Given the description of an element on the screen output the (x, y) to click on. 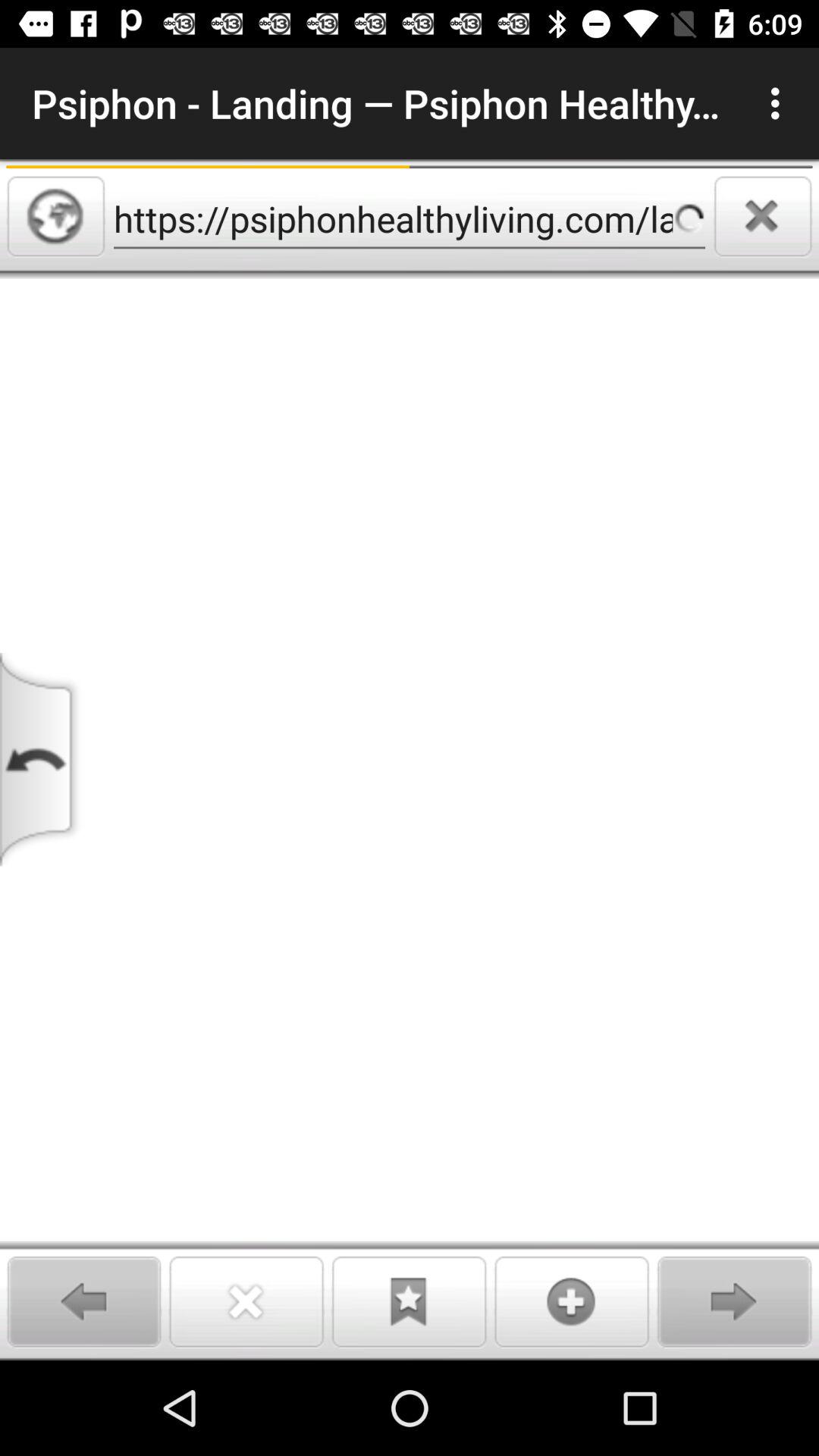
go back to last page (41, 759)
